Given the description of an element on the screen output the (x, y) to click on. 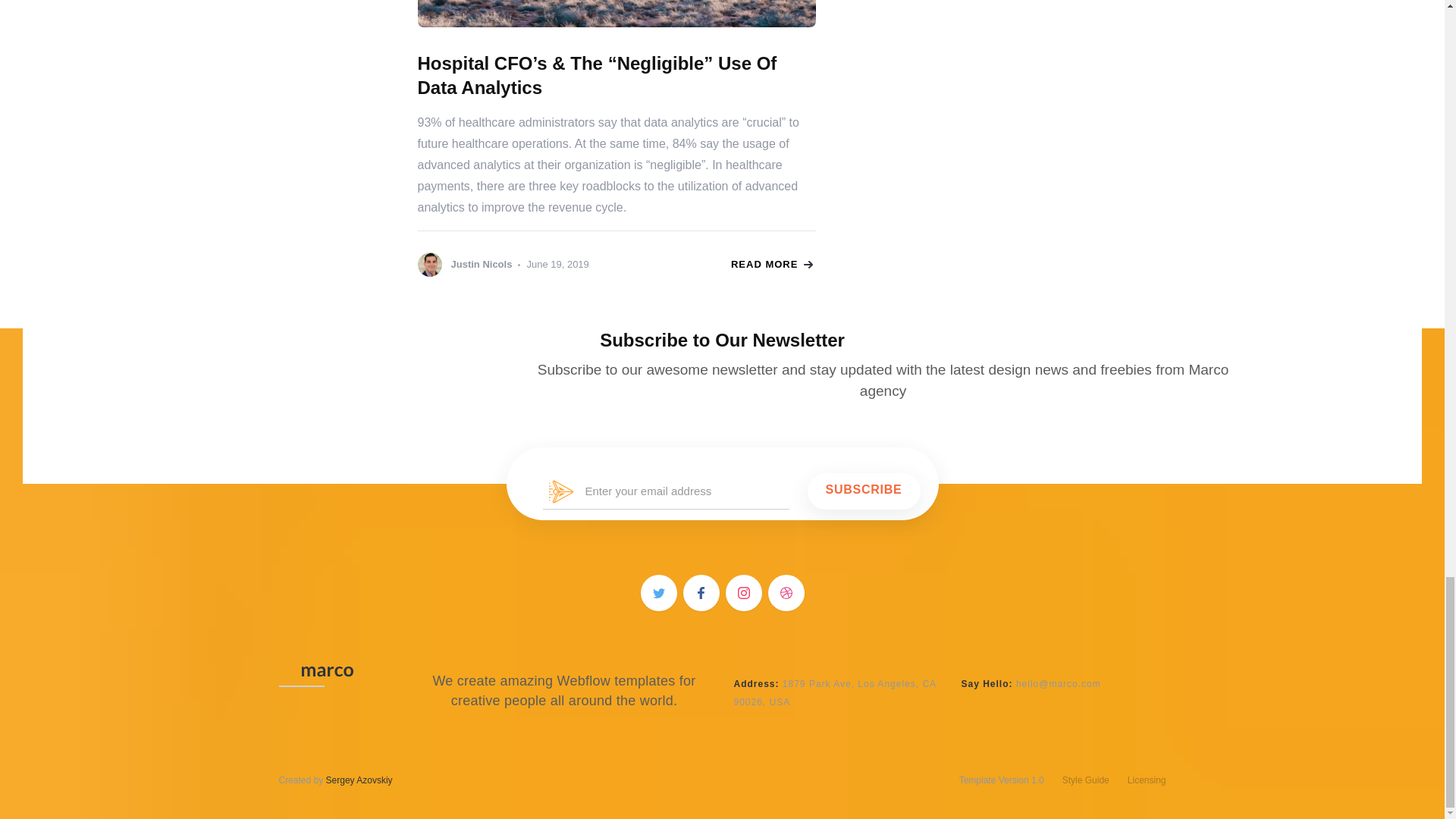
READ MORE (771, 264)
Justin Nicols (464, 264)
REVENUE CYCLE ANALYTICS (615, 13)
Subscribe (864, 491)
